Given the description of an element on the screen output the (x, y) to click on. 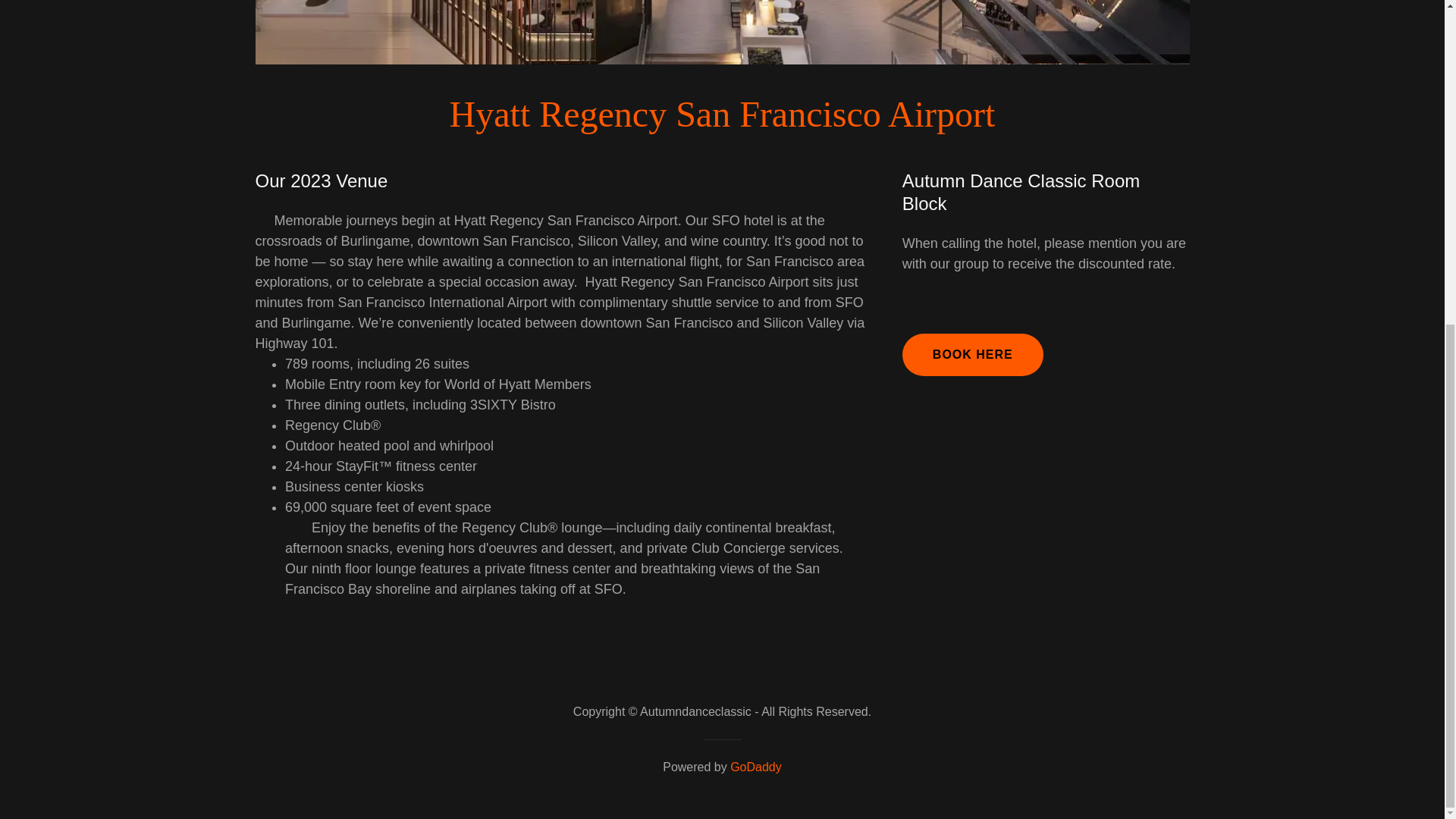
BOOK HERE (972, 354)
GoDaddy (755, 766)
